Given the description of an element on the screen output the (x, y) to click on. 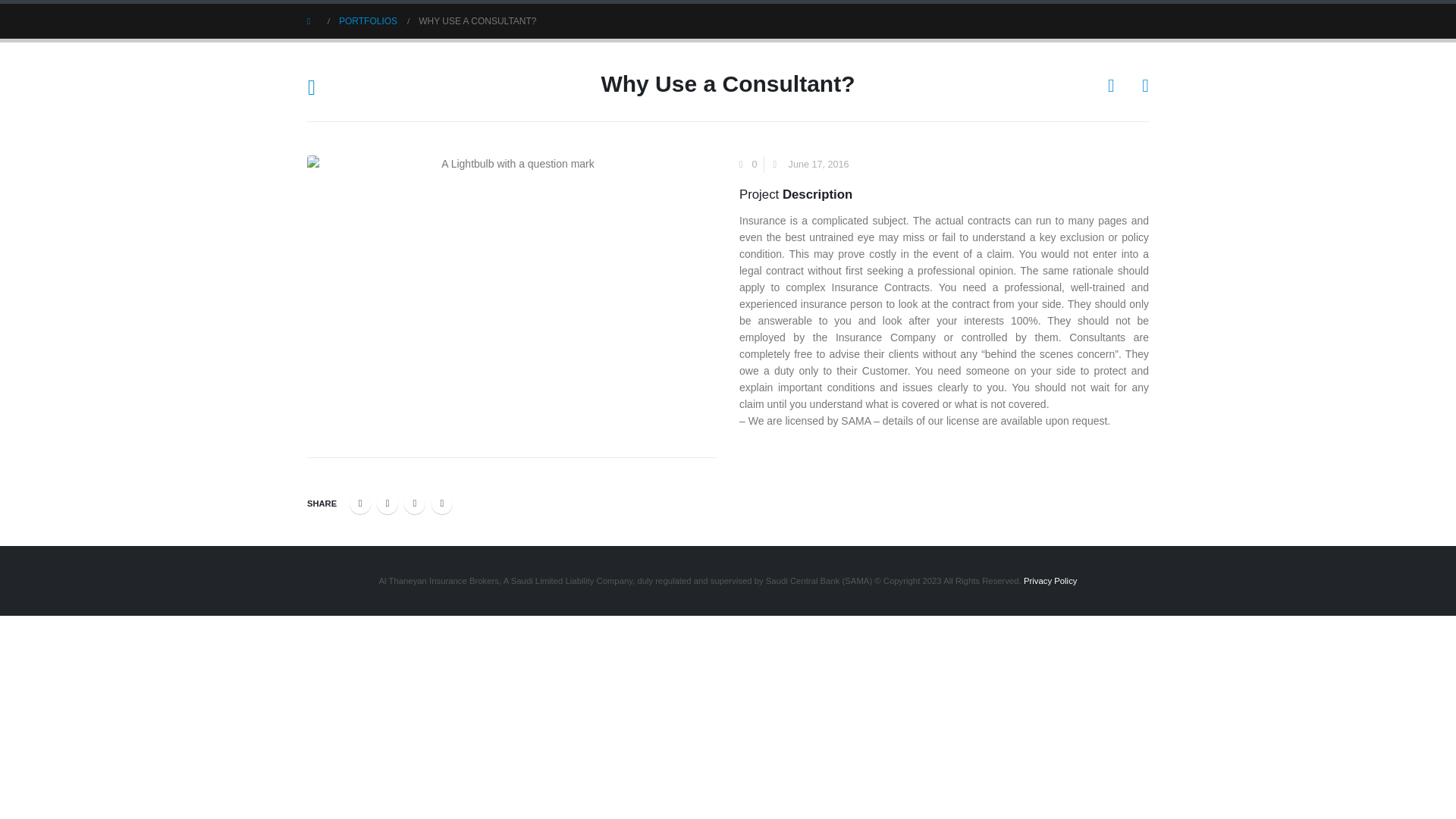
LinkedIn (414, 503)
Facebook (360, 503)
Twitter (387, 503)
PORTFOLIOS (368, 21)
Email (441, 503)
Privacy Policy (1050, 580)
